Given the description of an element on the screen output the (x, y) to click on. 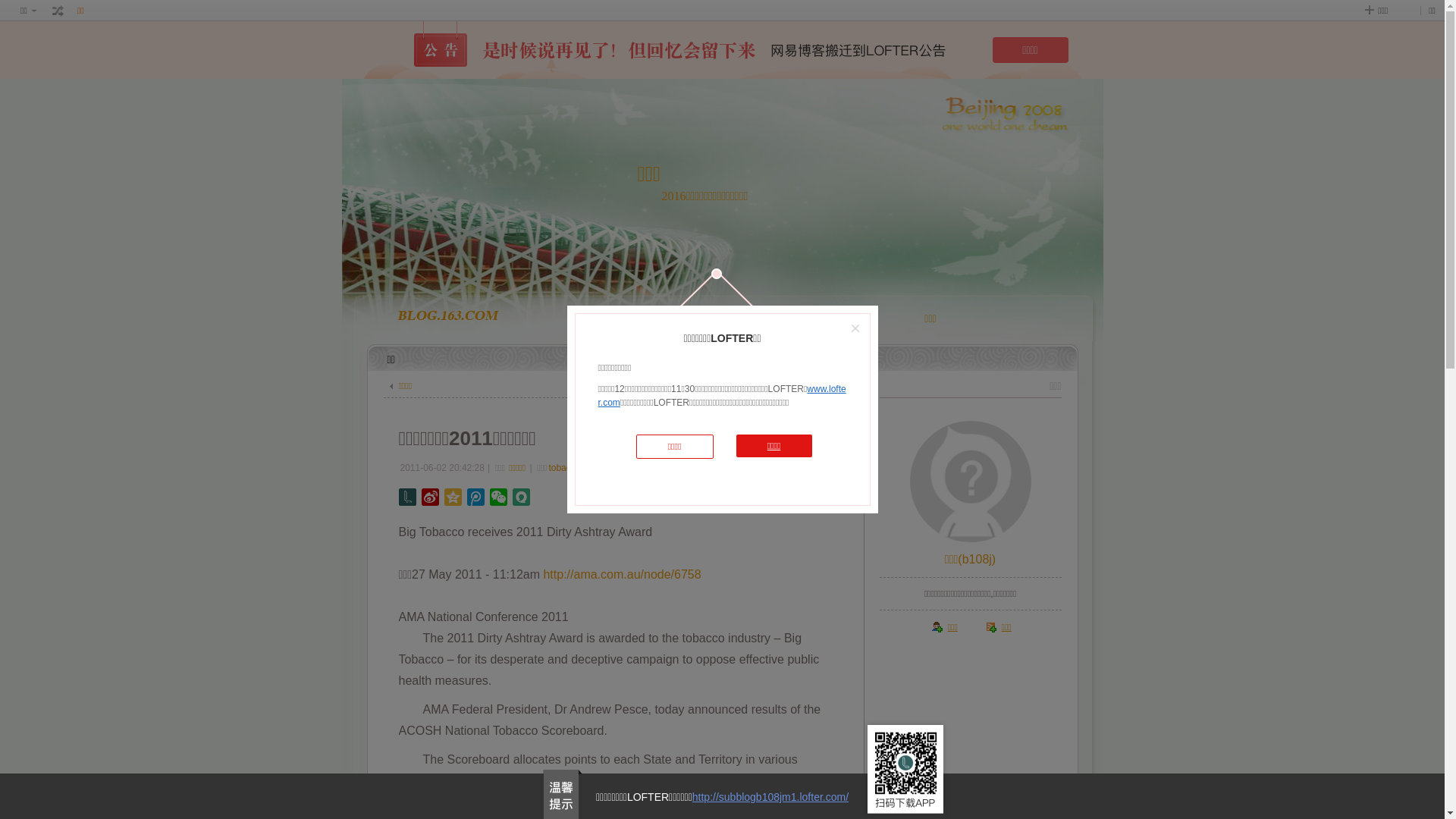
dr Element type: text (636, 467)
  Element type: text (58, 10)
tobacco Element type: text (564, 467)
big Element type: text (621, 467)
LOFTER Element type: text (718, 317)
pesce Element type: text (597, 467)
http://ama.com.au/node/6758 Element type: text (621, 573)
dirty Element type: text (653, 467)
www.lofter.com Element type: text (721, 395)
http://subblogb108jm1.lofter.com/ Element type: text (770, 796)
